Given the description of an element on the screen output the (x, y) to click on. 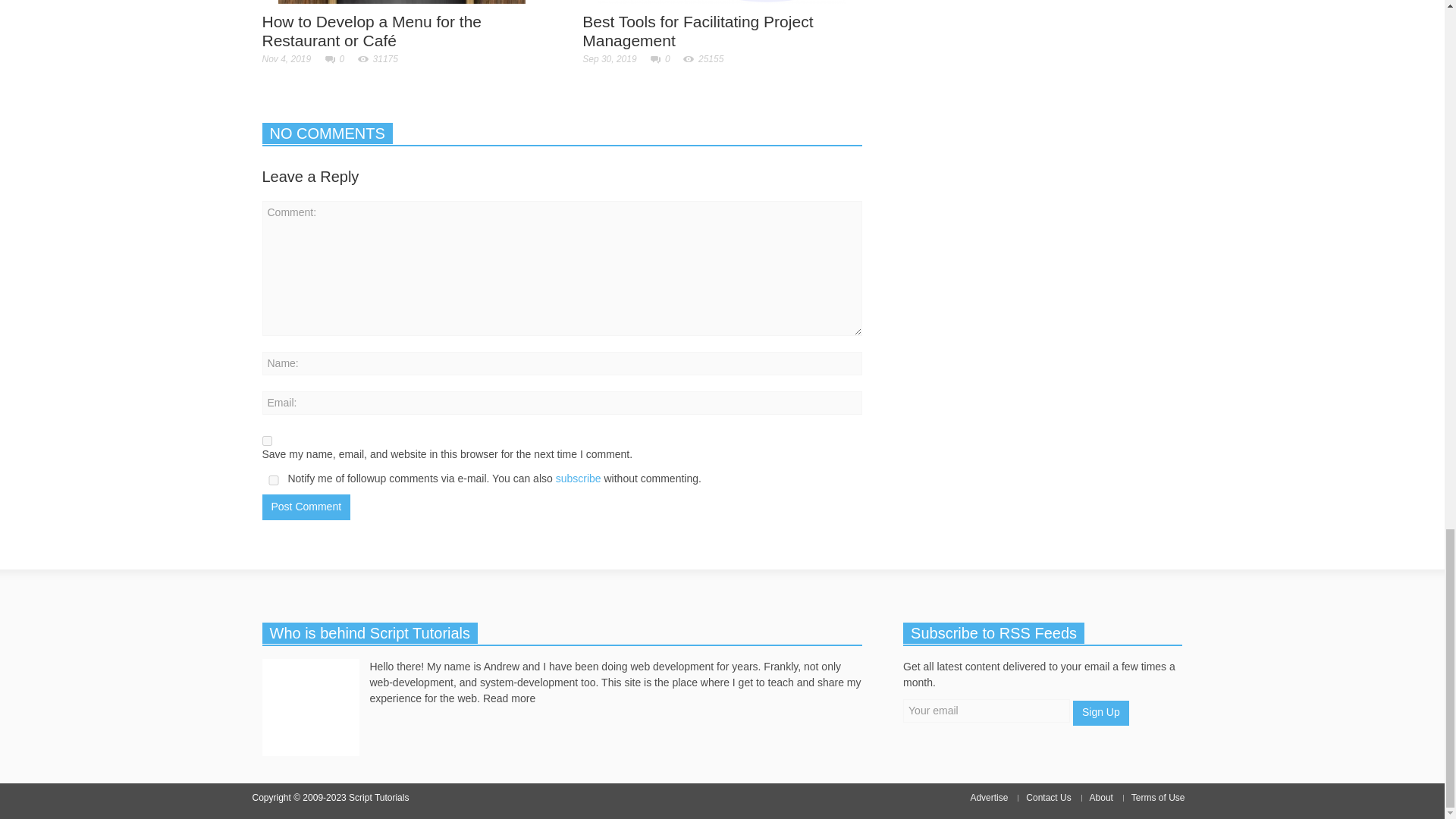
yes (267, 440)
yes (273, 480)
Post Comment (306, 507)
